Given the description of an element on the screen output the (x, y) to click on. 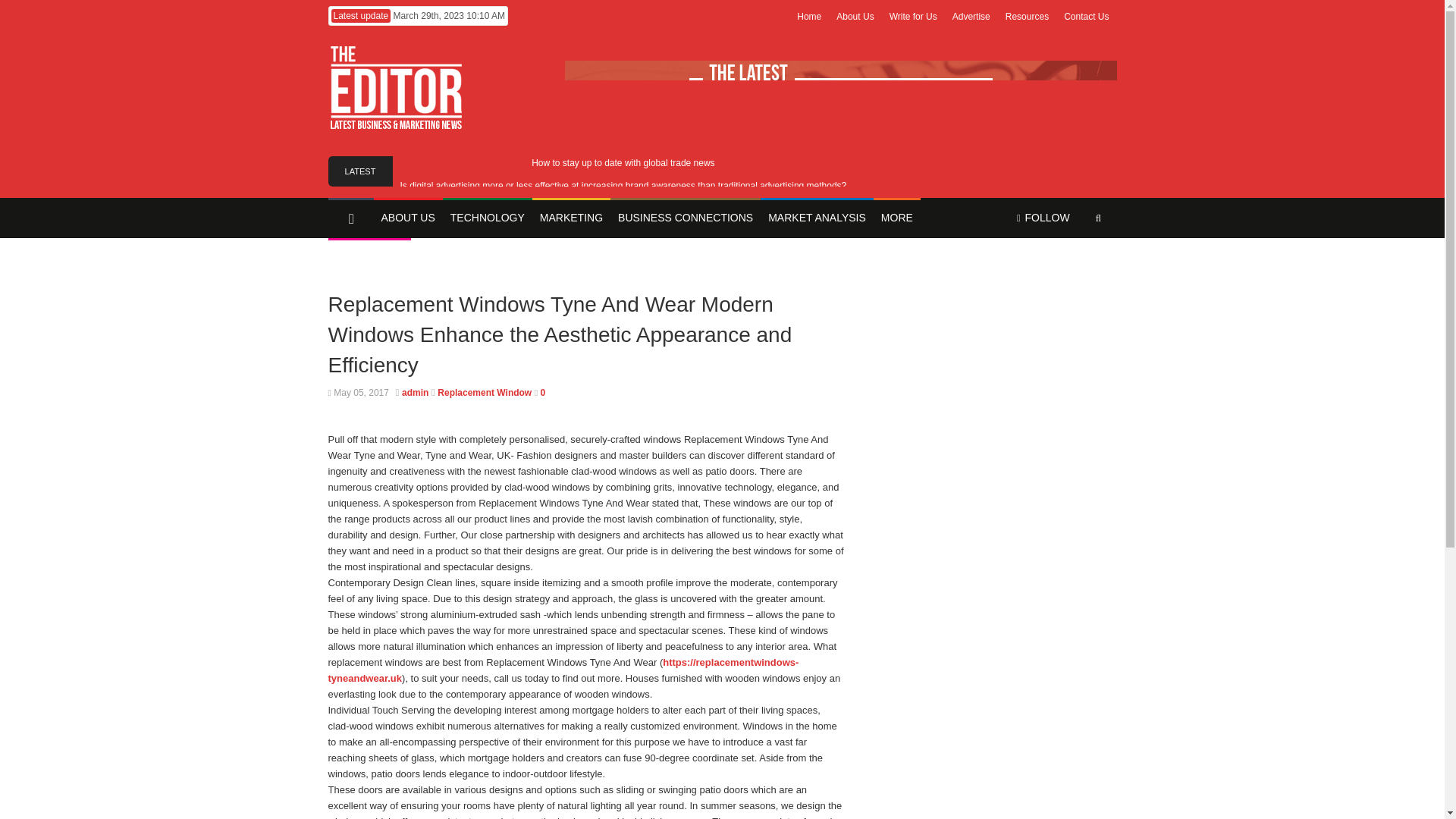
MORE (896, 218)
MARKET ANALYSIS (816, 218)
TECHNOLOGY (487, 218)
FOLLOW (1042, 218)
admin (414, 392)
CONTACT US (368, 258)
About Us (854, 16)
Resources (1027, 16)
How to stay up to date with global trade news (622, 163)
ABOUT US (407, 218)
Replacement Window (484, 392)
Contact Us (1086, 16)
Advertise (970, 16)
Write for Us (913, 16)
